Given the description of an element on the screen output the (x, y) to click on. 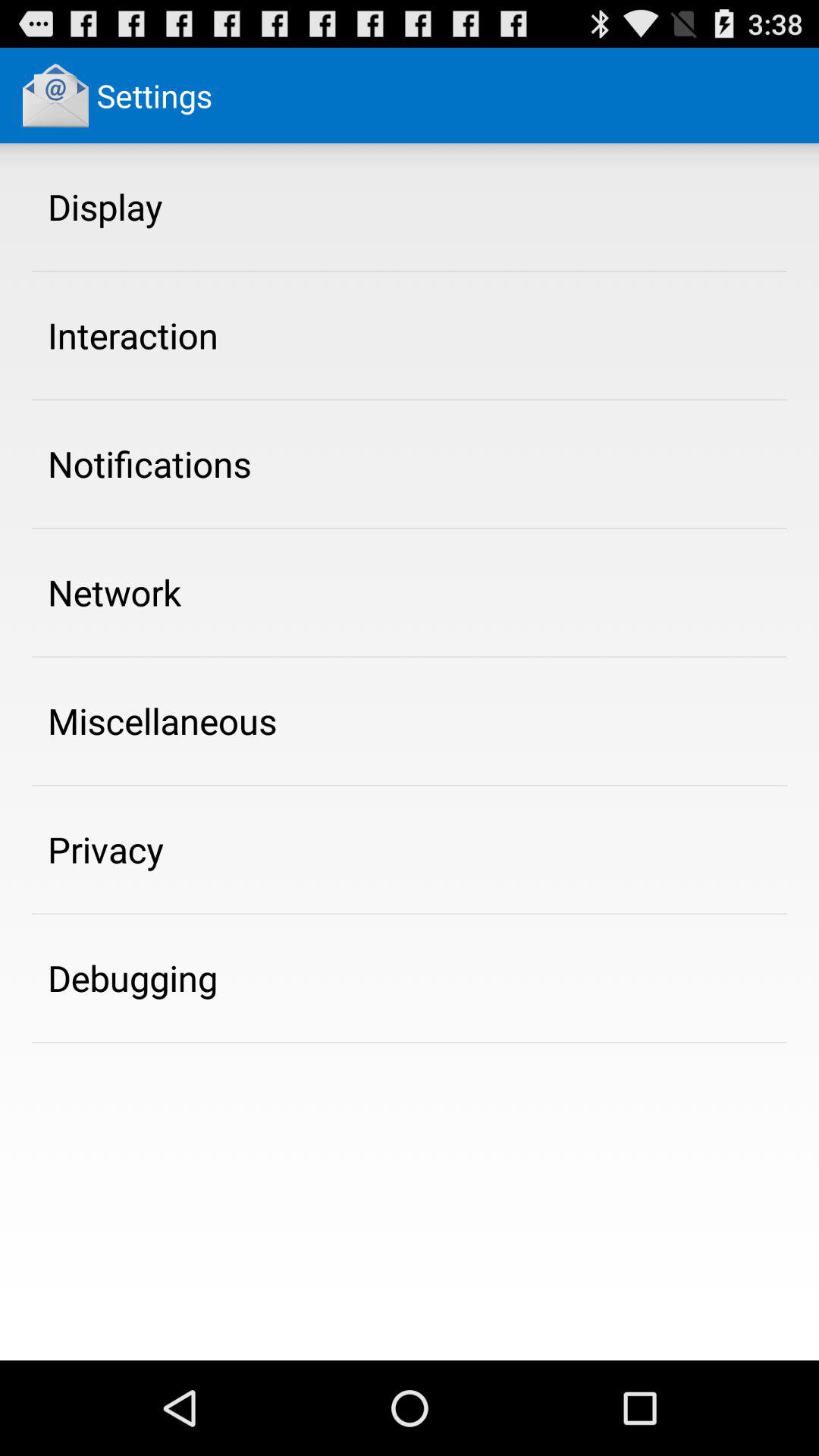
jump until debugging app (132, 977)
